Given the description of an element on the screen output the (x, y) to click on. 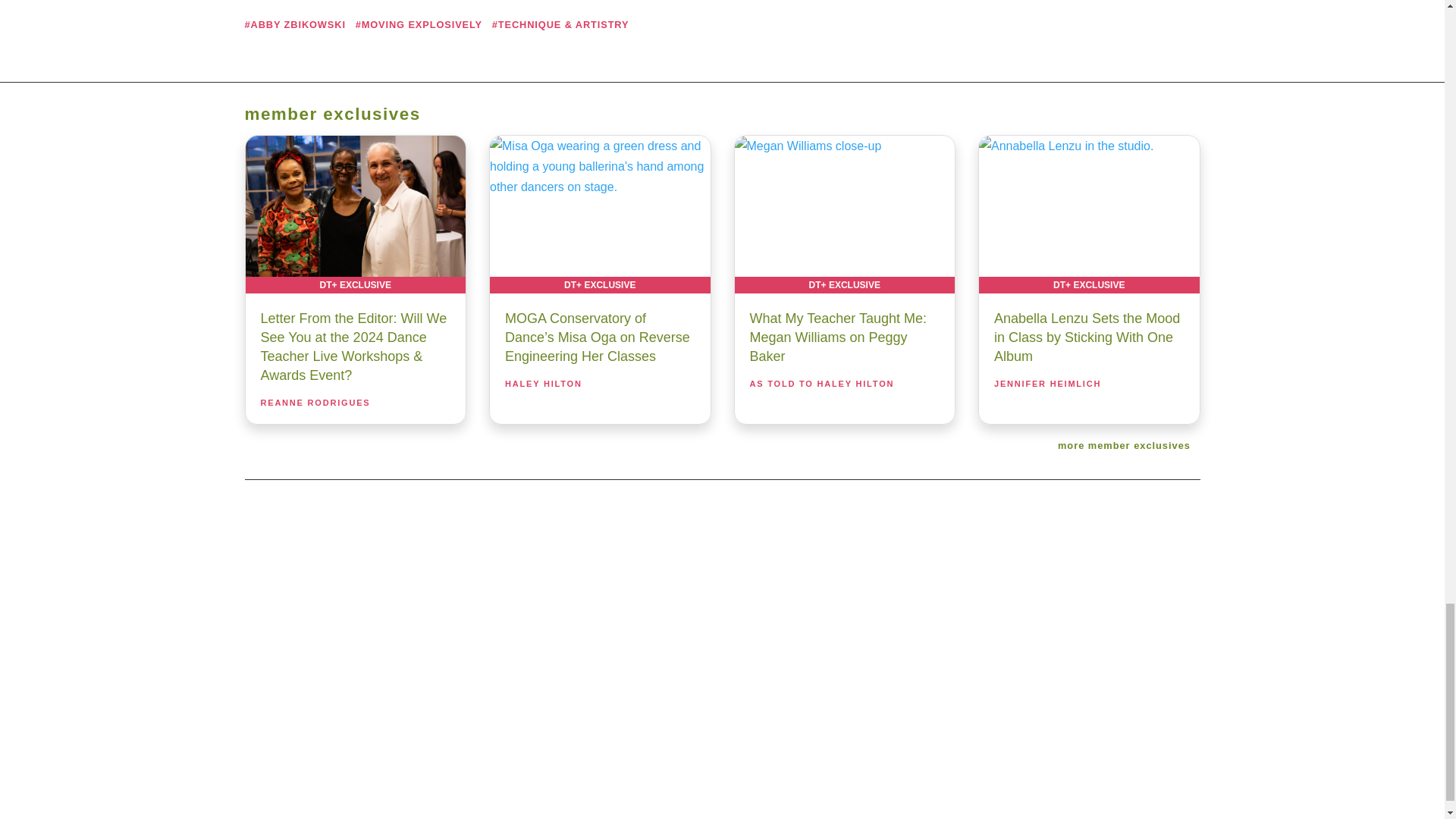
Follow on Facebook (645, 647)
What My Teacher Taught Me: Megan Williams on Peggy Baker (844, 214)
